Given the description of an element on the screen output the (x, y) to click on. 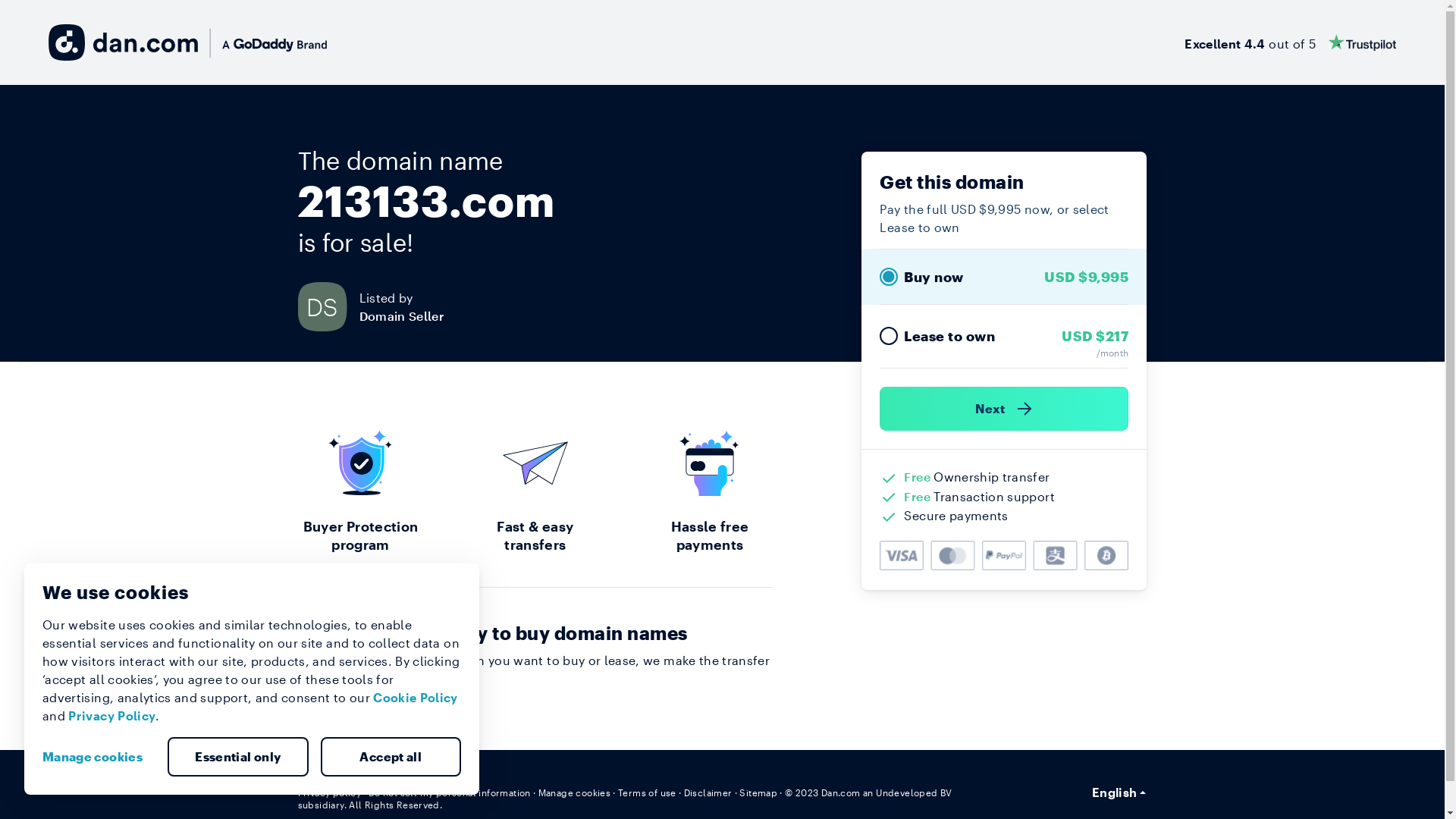
Privacy policy Element type: text (328, 792)
Manage cookies Element type: text (98, 756)
Terms of use Element type: text (647, 792)
Sitemap Element type: text (758, 792)
Next
) Element type: text (1003, 408)
Essential only Element type: text (237, 756)
Excellent 4.4 out of 5 Element type: text (1290, 42)
Disclaimer Element type: text (708, 792)
Accept all Element type: text (390, 756)
Manage cookies Element type: text (574, 792)
Do not sell my personal information Element type: text (449, 792)
English Element type: text (1119, 792)
Cookie Policy Element type: text (415, 697)
Privacy Policy Element type: text (111, 715)
